Given the description of an element on the screen output the (x, y) to click on. 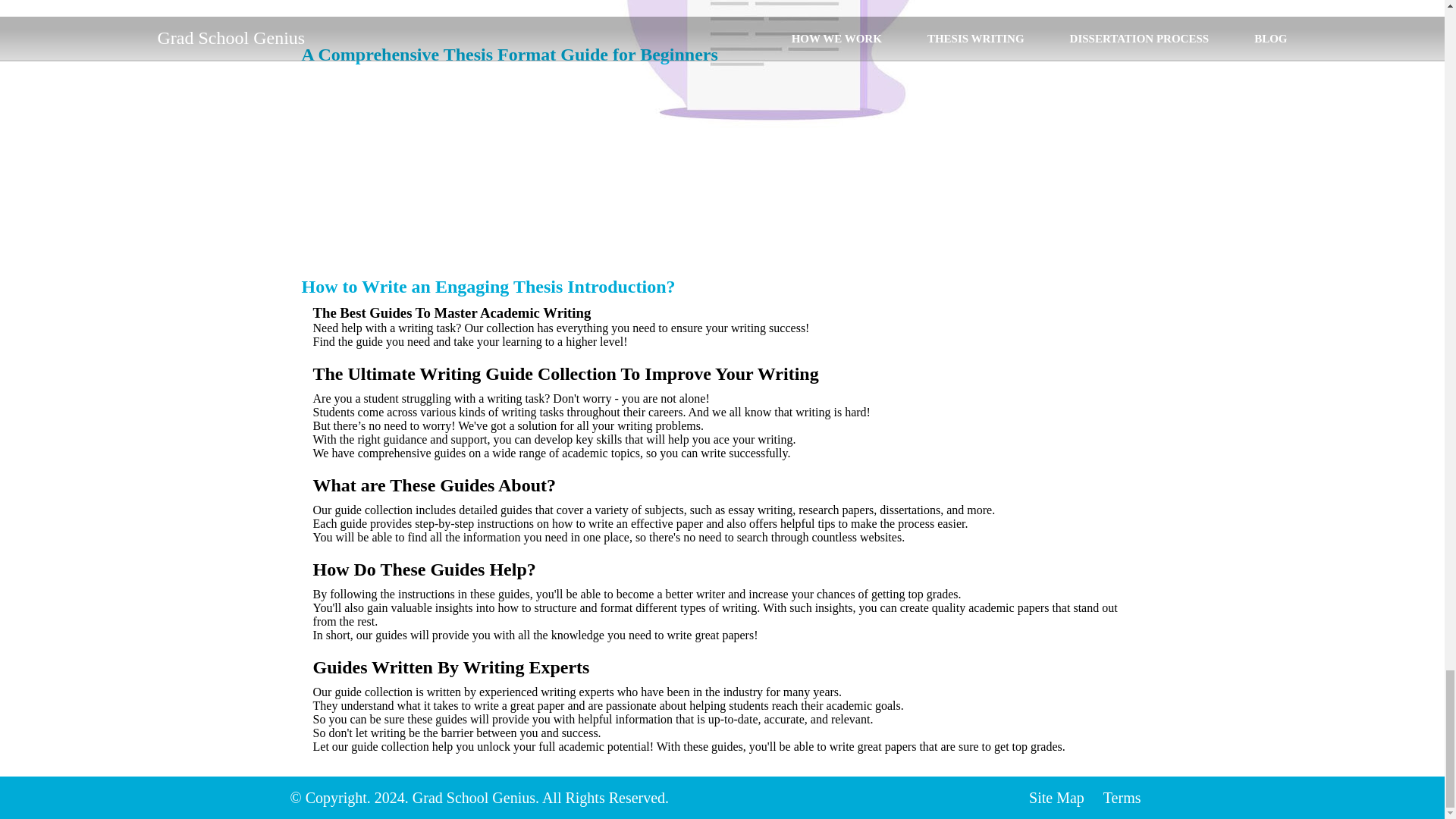
Terms (1122, 797)
How to Write an Engaging Thesis Introduction? (488, 286)
A Comprehensive Thesis Format Guide for Beginners (509, 54)
Site Map (1056, 797)
